Given the description of an element on the screen output the (x, y) to click on. 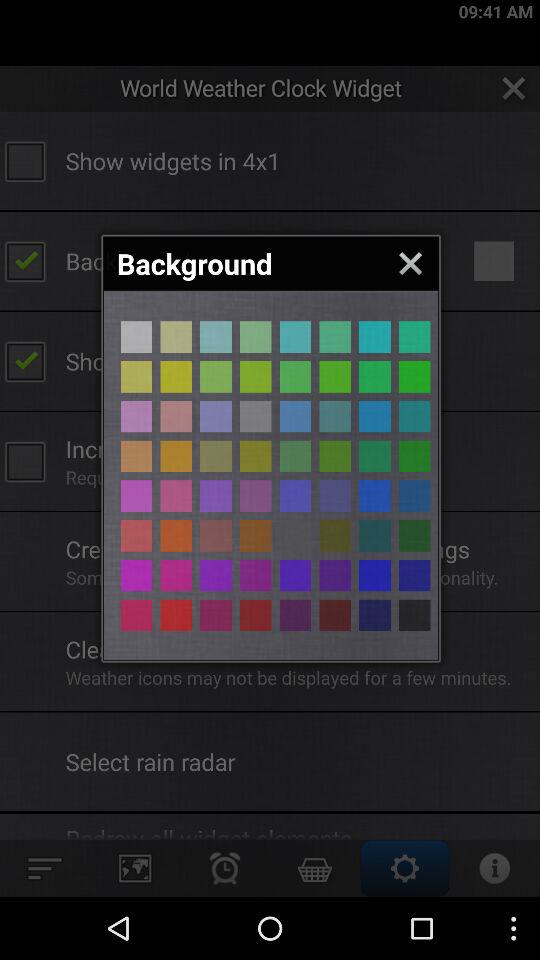
select blue background (374, 575)
